Given the description of an element on the screen output the (x, y) to click on. 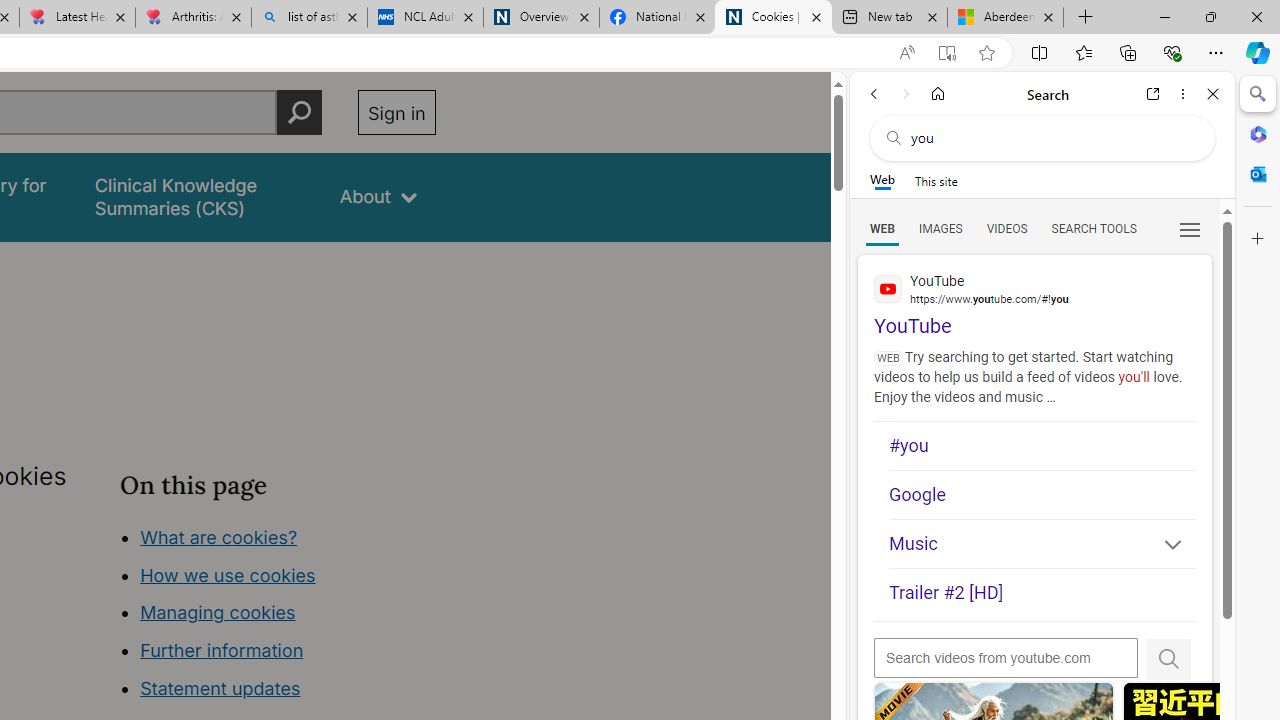
Class: b_serphb (1190, 229)
Aberdeen, Hong Kong SAR hourly forecast | Microsoft Weather (1005, 17)
Sign in (396, 112)
Cookies | About | NICE (772, 17)
Trailer #2 [HD] (1042, 592)
About (378, 196)
Preferences (1189, 228)
Global web icon (888, 288)
Search Filter, VIDEOS (1006, 228)
Enter Immersive Reader (F9) (946, 53)
Arthritis: Ask Health Professionals (192, 17)
What are cookies? (218, 536)
Trailer #2 [HD] (1042, 594)
